Given the description of an element on the screen output the (x, y) to click on. 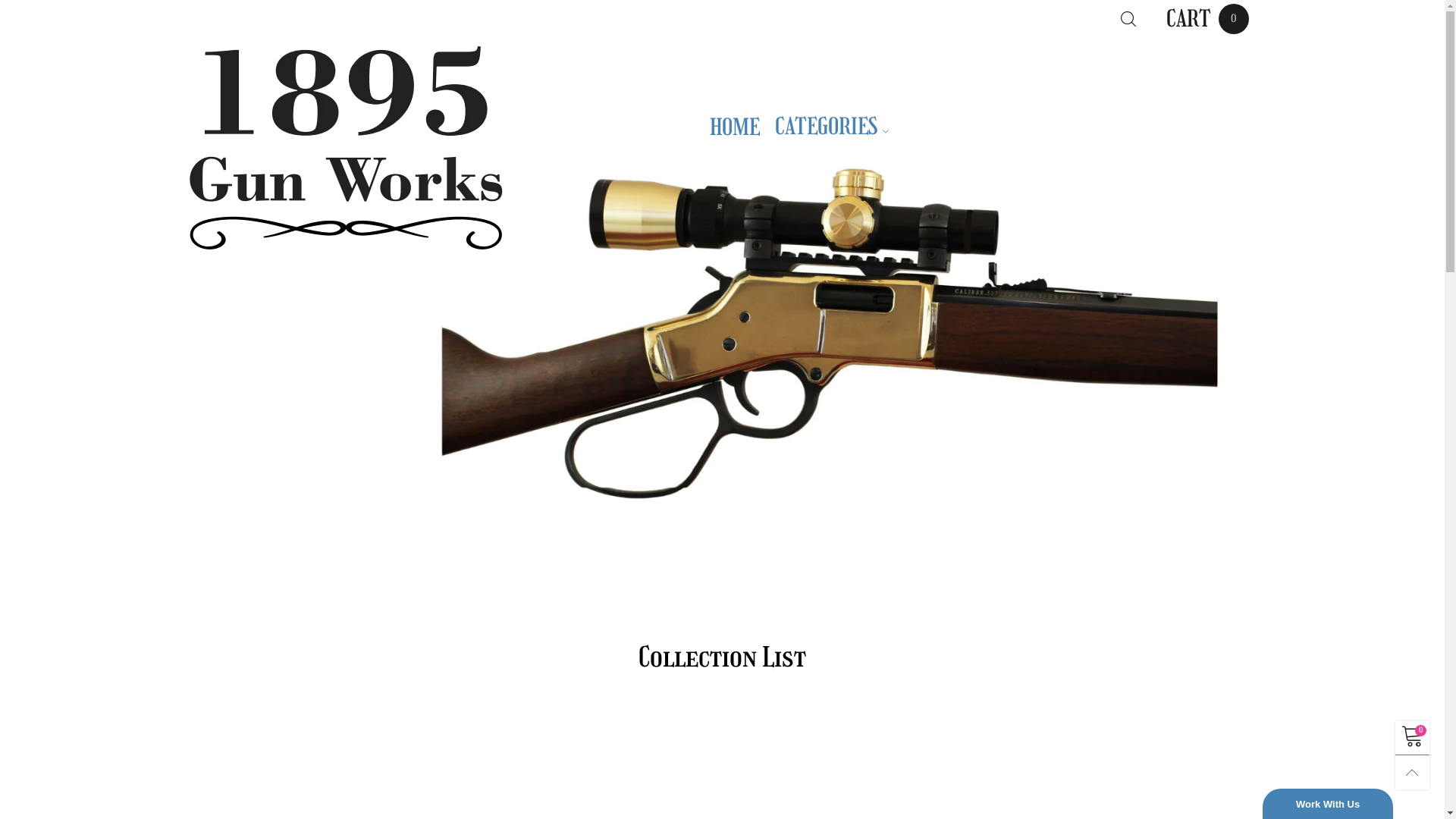
Search ... Element type: hover (1128, 18)
1895 Scopes Element type: hover (342, 147)
0 Element type: text (1412, 738)
HOME Element type: text (734, 126)
Back to top Element type: hover (1412, 772)
CATEGORIES Element type: text (831, 128)
CART
0 Element type: text (1207, 18)
